Given the description of an element on the screen output the (x, y) to click on. 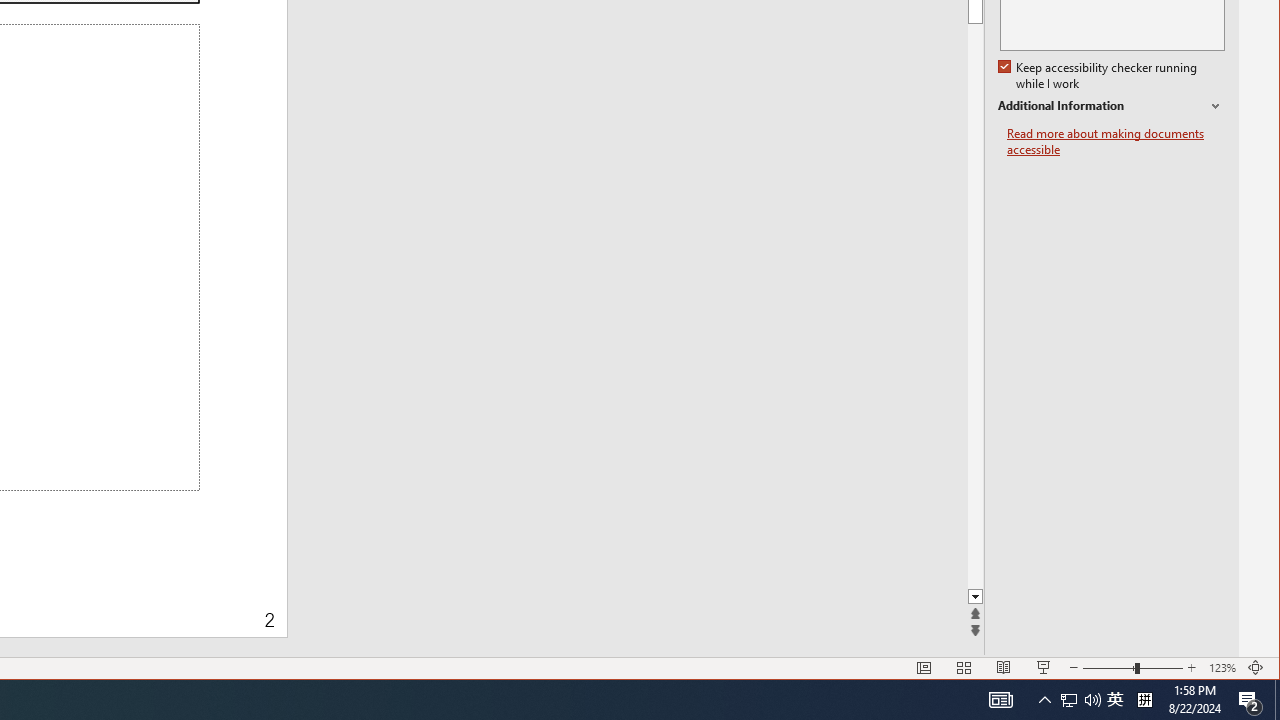
AutomationID: 4105 (1000, 699)
Tray Input Indicator - Chinese (Simplified, China) (1144, 699)
Line down (1230, 597)
Zoom 123% (1222, 668)
Q2790: 100% (1092, 699)
Read more about making documents accessible (1115, 142)
Show desktop (1277, 699)
Notification Chevron (1044, 699)
Page down (1230, 305)
Keep accessibility checker running while I work (1115, 699)
